Given the description of an element on the screen output the (x, y) to click on. 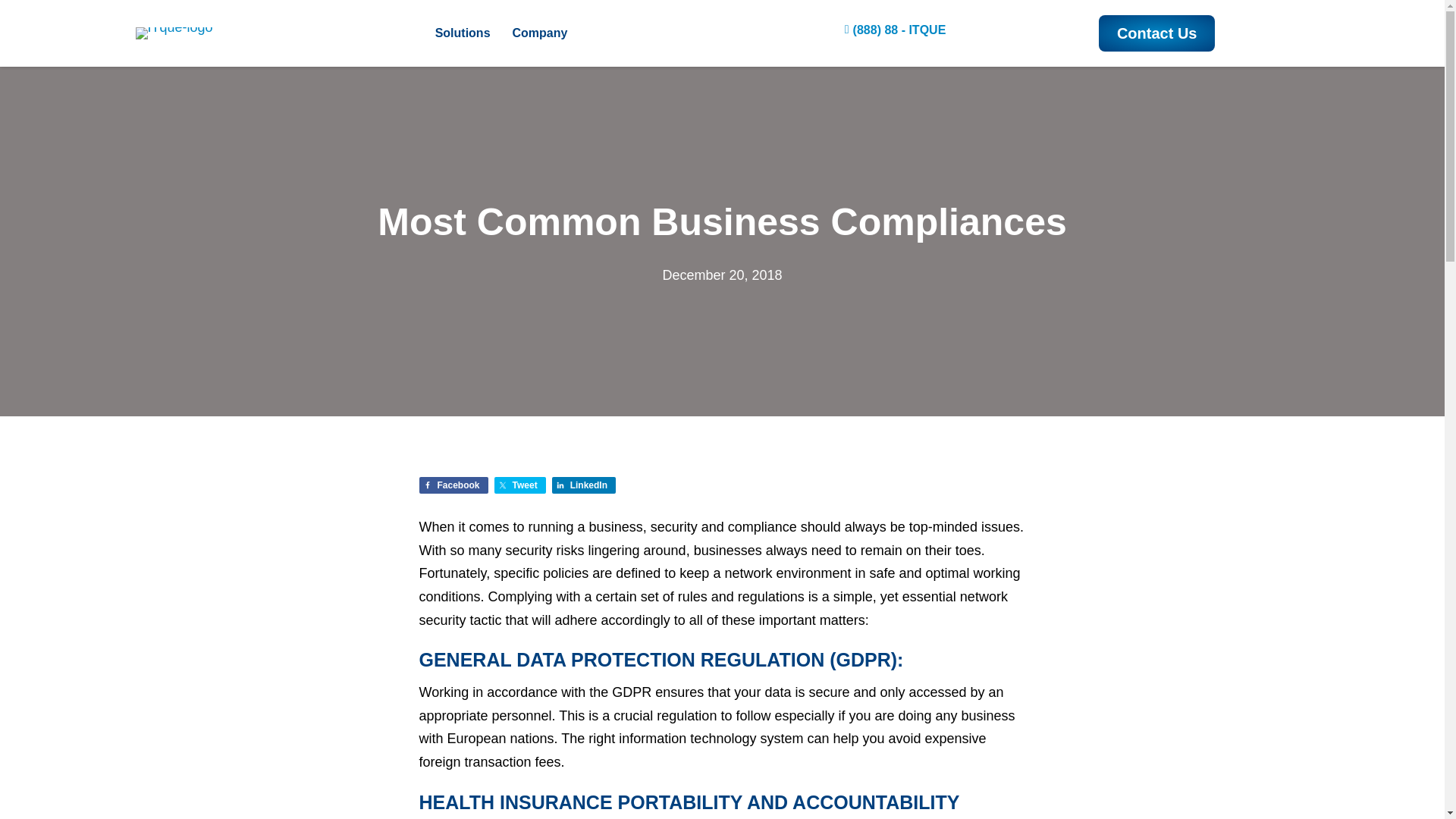
ITque-logo (173, 33)
Solutions (462, 32)
Company (540, 32)
Share on LinkedIn (583, 484)
Share on Facebook (453, 484)
Share on Twitter (520, 484)
